Given the description of an element on the screen output the (x, y) to click on. 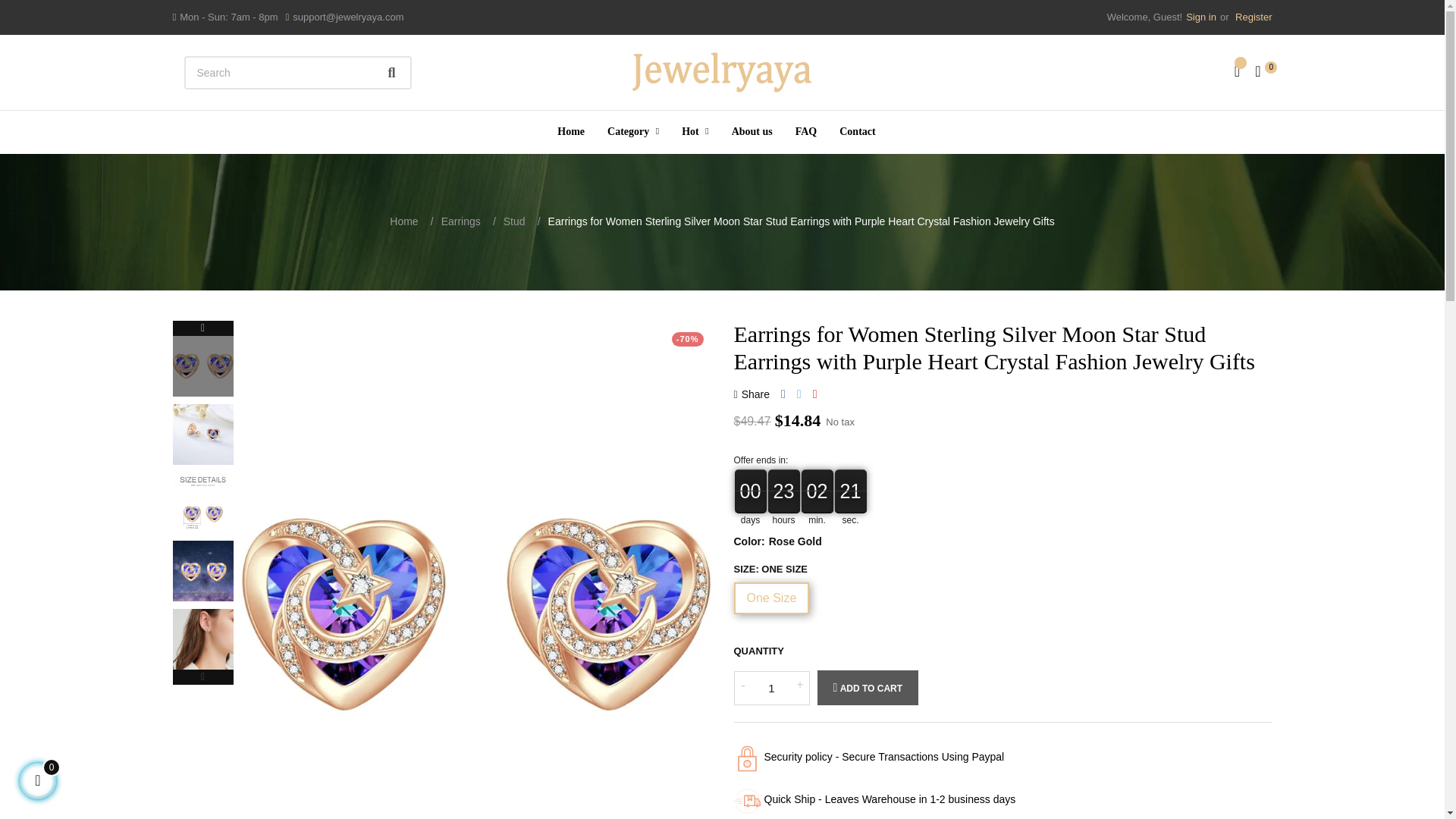
1 (771, 687)
Log in to your customer account (1200, 16)
 Register (1251, 16)
Register (1251, 16)
Sign in (1200, 16)
